Given the description of an element on the screen output the (x, y) to click on. 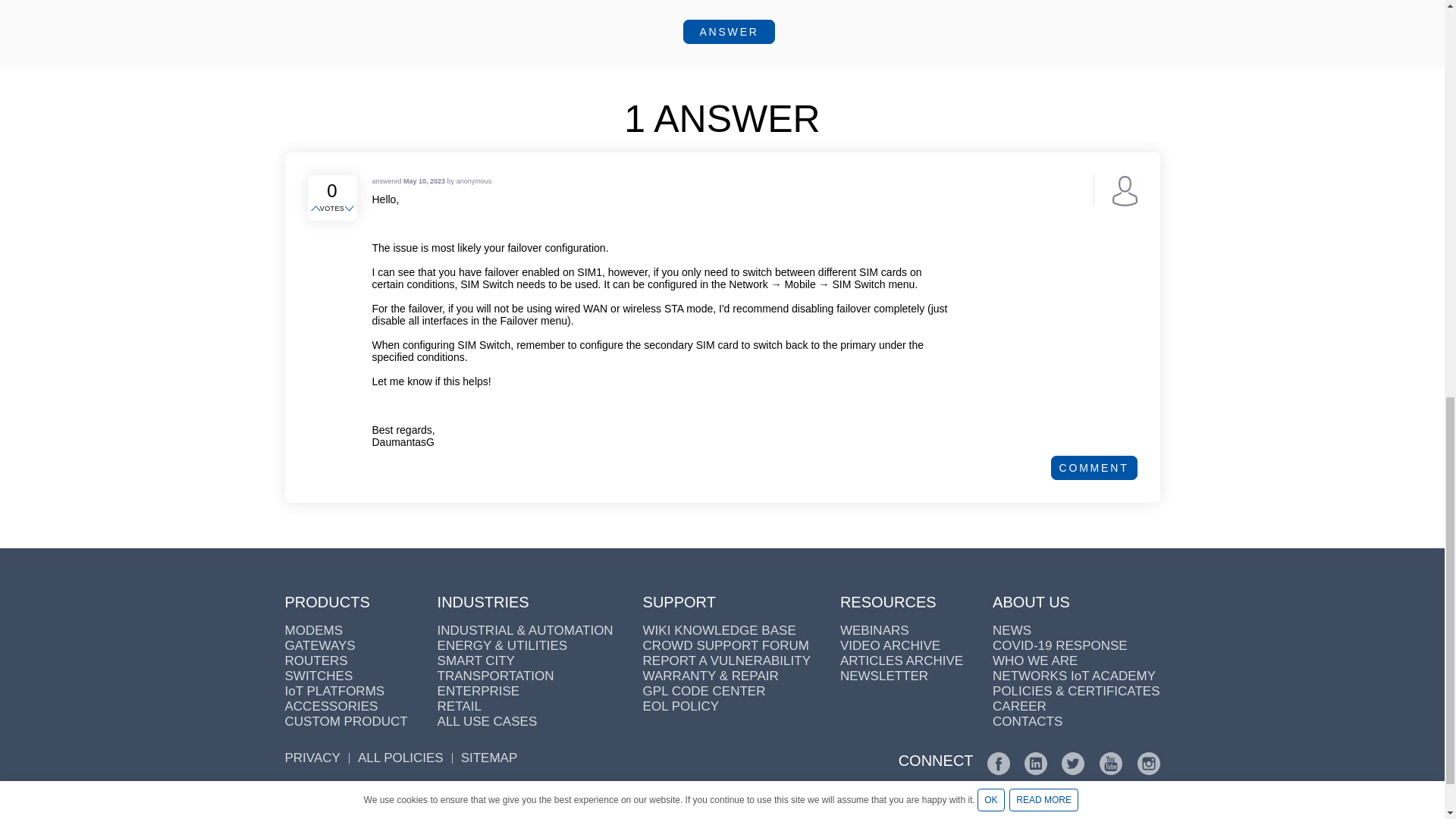
Click to vote up (317, 208)
Click to vote down (349, 208)
Add a comment on this answer (1094, 467)
answer (728, 31)
Answer this question (728, 31)
comment (1094, 467)
